Given the description of an element on the screen output the (x, y) to click on. 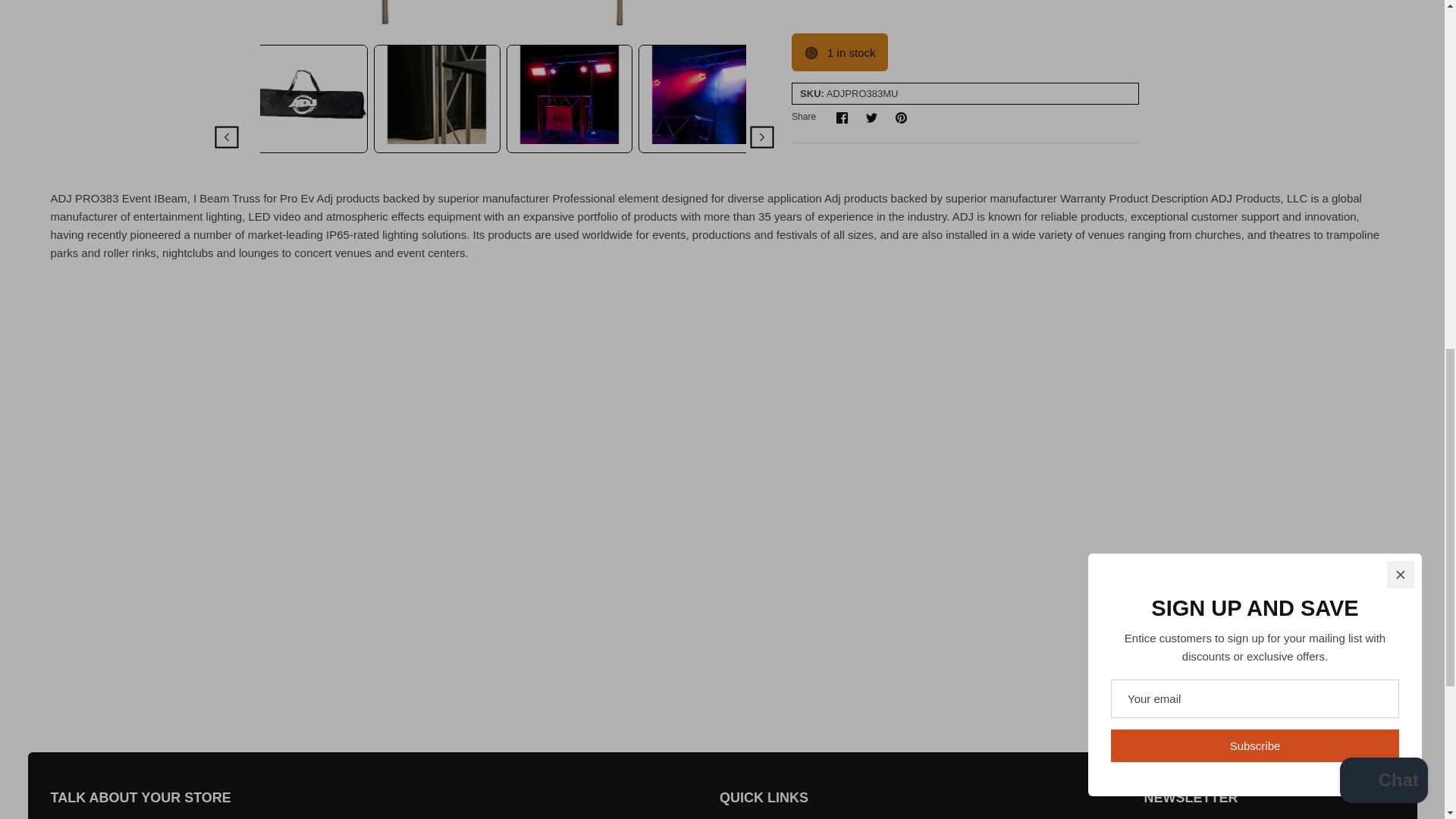
Left (225, 46)
Right (761, 46)
Twitter (871, 117)
Pinterest (901, 117)
Facebook (841, 117)
Right (761, 46)
Left (226, 46)
